Given the description of an element on the screen output the (x, y) to click on. 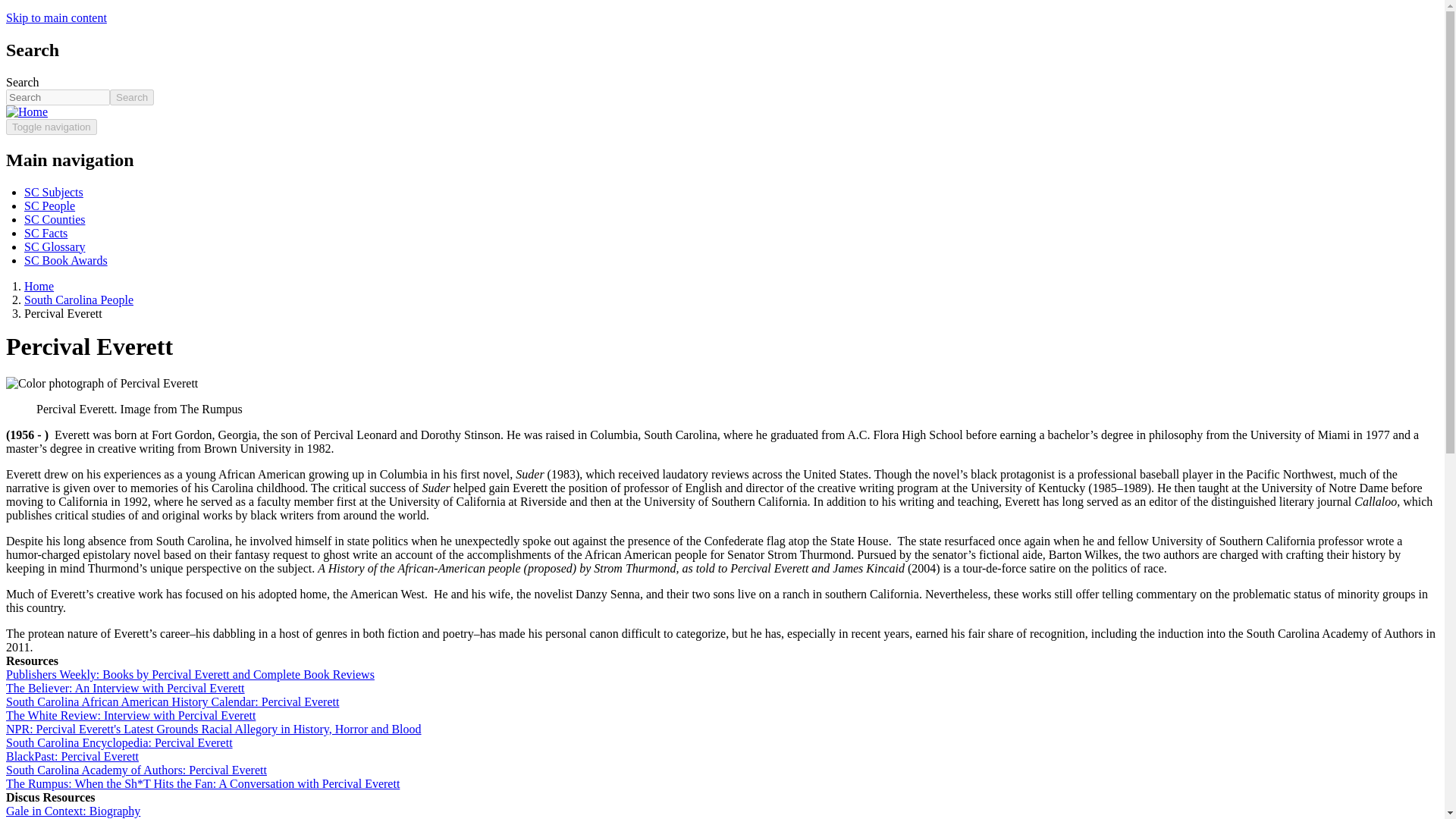
Enter the terms you wish to search for. (57, 97)
SC Book Awards (65, 259)
The White Review: Interview with Percival Everett (130, 715)
SC Subjects (53, 192)
Toggle navigation (51, 126)
SC Counties (54, 219)
South Carolina People (78, 299)
Home (32, 111)
The Believer: An Interview with Percival Everett (124, 687)
SC People (49, 205)
South Carolina Encyclopedia: Percival Everett (118, 742)
Gale in Context: Biography (72, 810)
Home (38, 286)
